Given the description of an element on the screen output the (x, y) to click on. 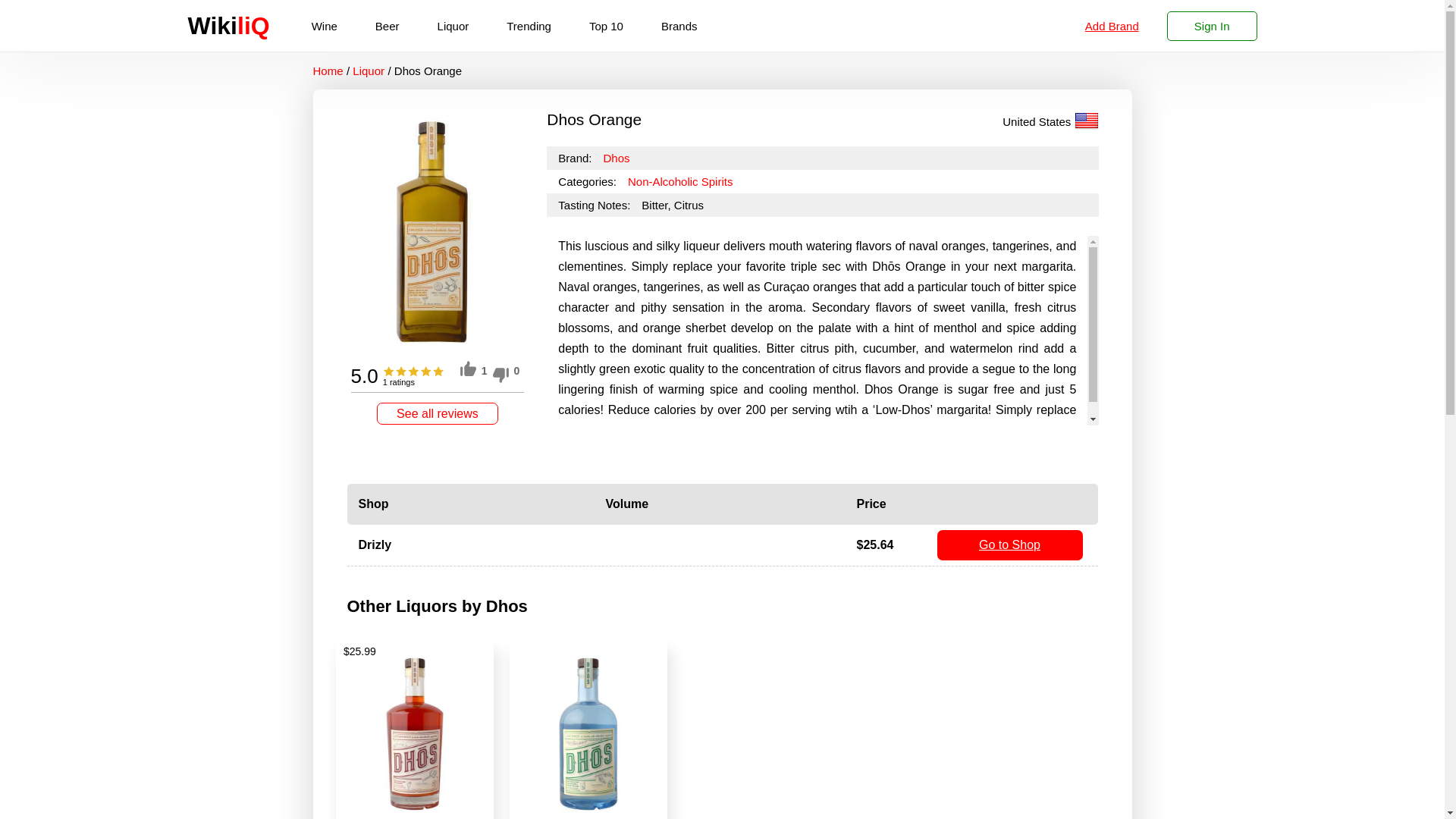
WikiliQ (228, 29)
Beer (386, 26)
Wine (324, 26)
